Given the description of an element on the screen output the (x, y) to click on. 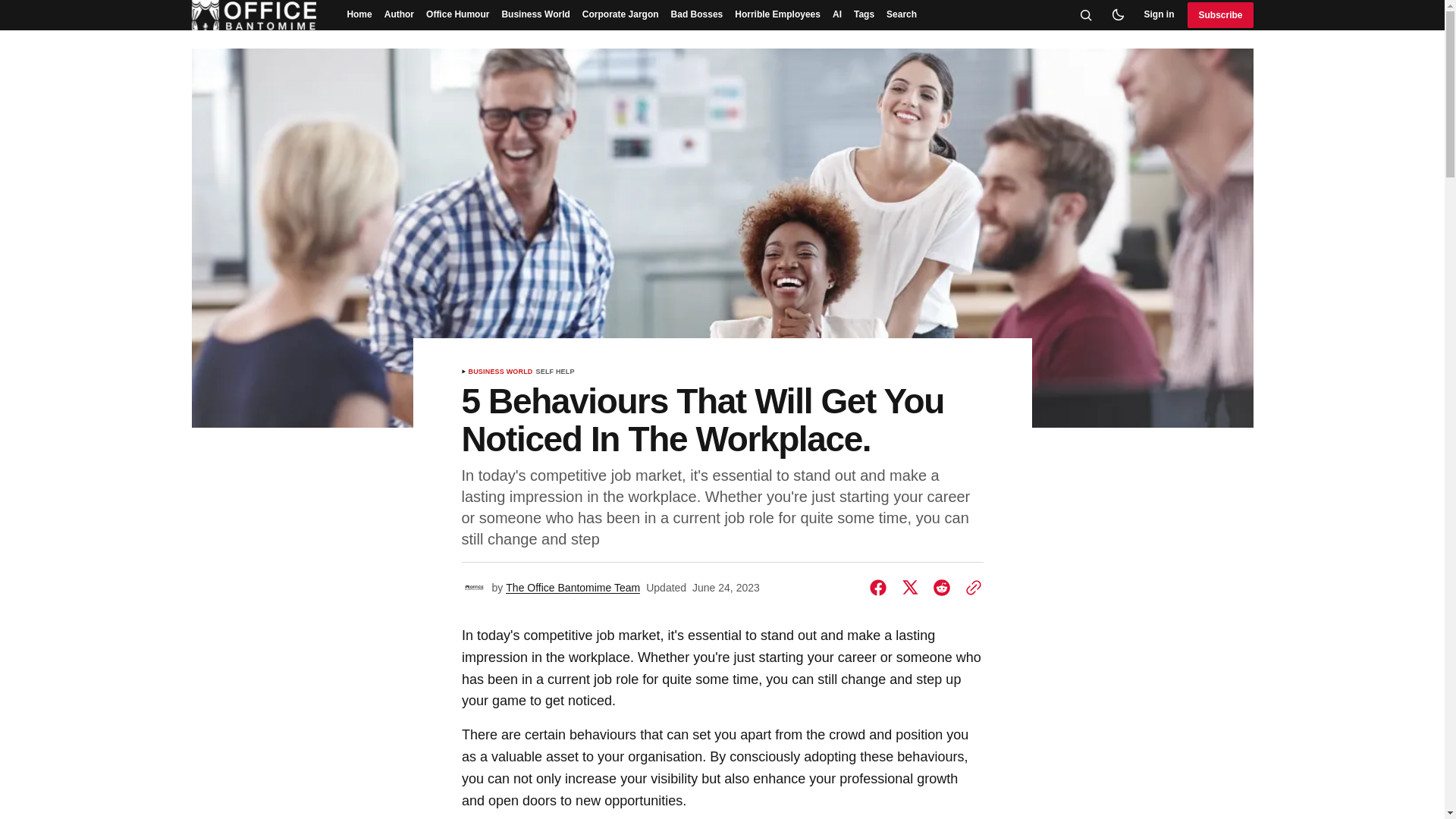
Tags (863, 15)
Search (901, 15)
Bad Bosses (697, 15)
Office Humour (457, 15)
BUSINESS WORLD (500, 371)
Home (358, 15)
The Office Bantomime Team (572, 587)
SELF HELP (555, 371)
Business World (535, 15)
Horrible Employees (778, 15)
Sign in (1158, 15)
Search button (1085, 15)
Subscribe (1220, 14)
Author (399, 15)
Corporate Jargon (620, 15)
